Given the description of an element on the screen output the (x, y) to click on. 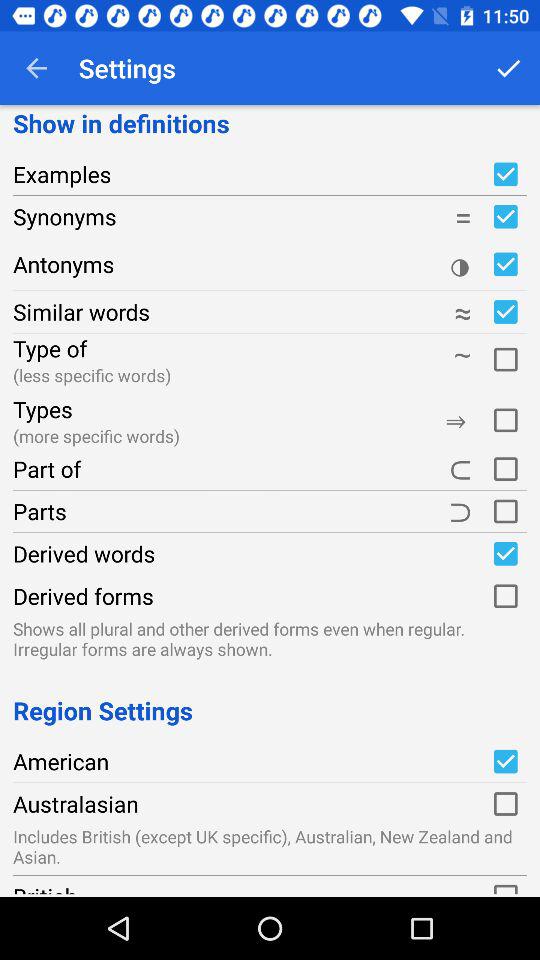
toggle similar words (505, 312)
